Given the description of an element on the screen output the (x, y) to click on. 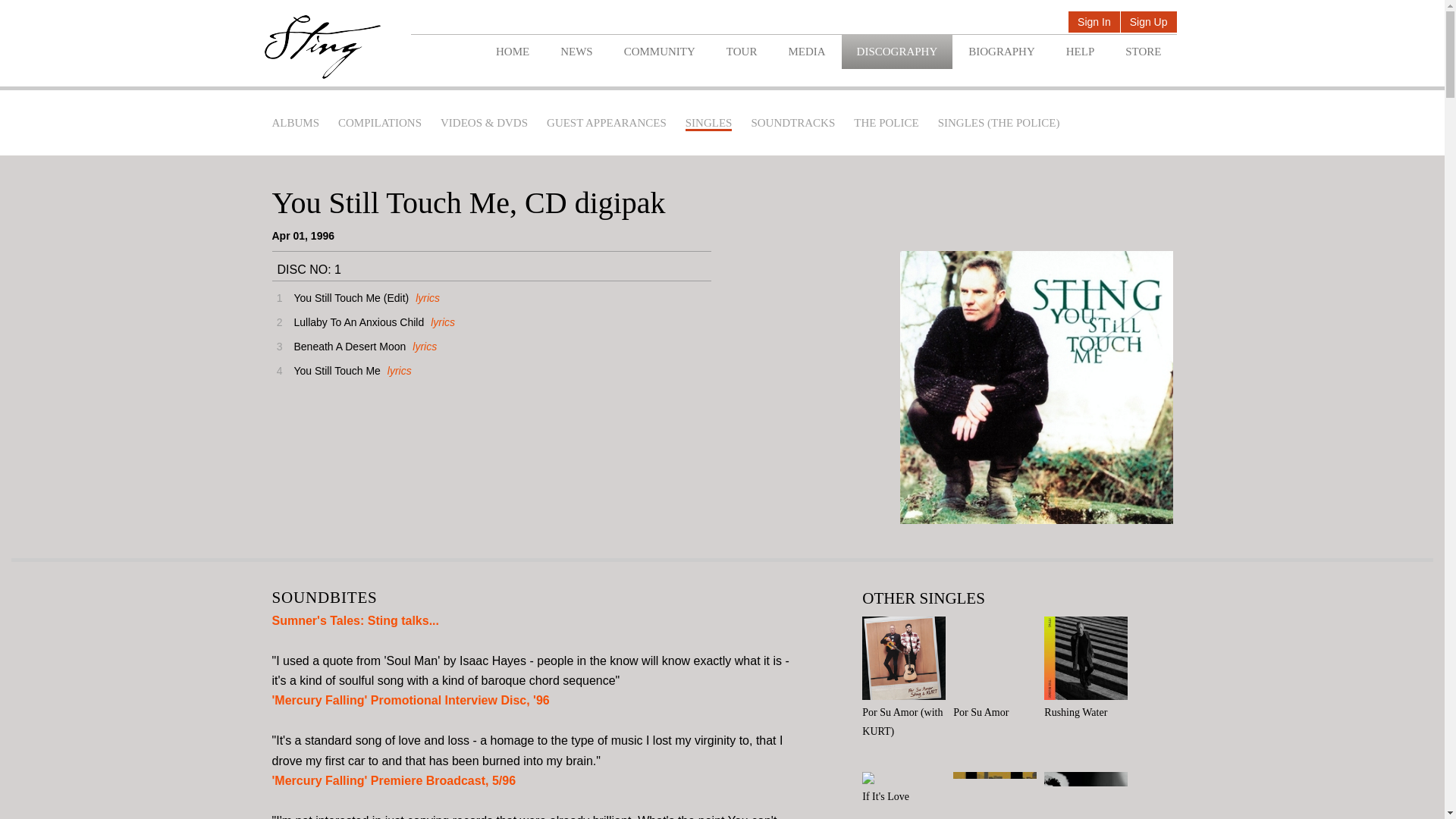
lyrics (398, 370)
COMPILATIONS (379, 122)
Sign Up (1148, 22)
If It's Love (907, 789)
MEDIA (806, 51)
DISCOGRAPHY (897, 51)
GUEST APPEARANCES (606, 122)
lyrics (422, 346)
NEWS (576, 51)
BIOGRAPHY (1001, 51)
SOUNDTRACKS (792, 122)
lyrics (440, 322)
lyrics (425, 297)
TOUR (742, 51)
SINGLES (708, 124)
